Given the description of an element on the screen output the (x, y) to click on. 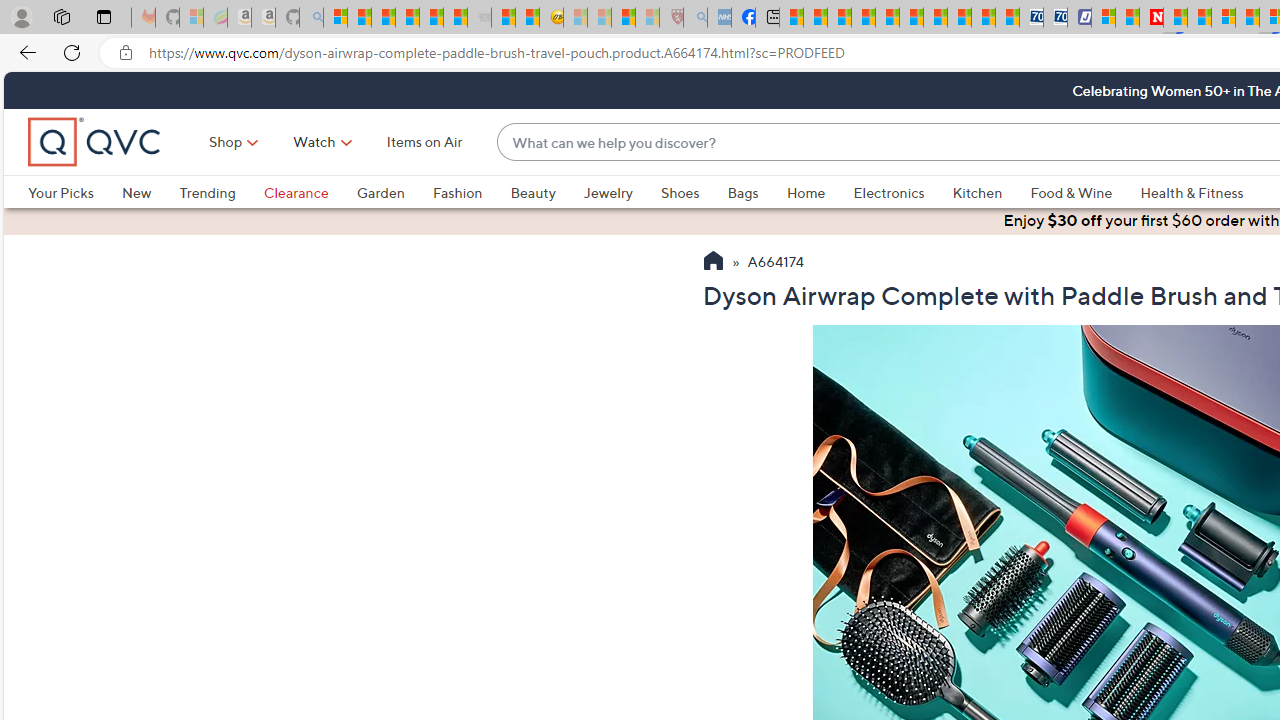
A664174 (776, 263)
Cheap Hotels - Save70.com (1055, 17)
Food & Wine (1071, 192)
Bags (743, 192)
Kitchen (991, 192)
12 Popular Science Lies that Must be Corrected - Sleeping (647, 17)
Fashion (471, 192)
Bags (757, 192)
